Given the description of an element on the screen output the (x, y) to click on. 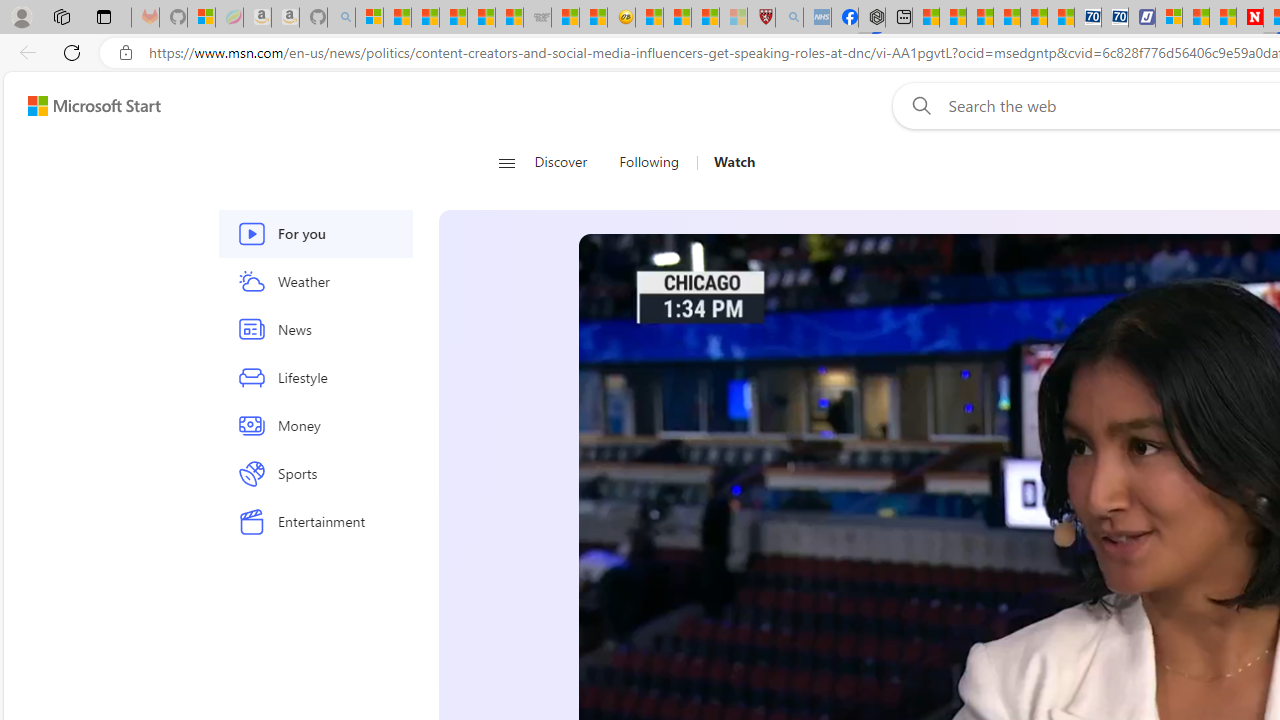
Watch (734, 162)
Science - MSN (705, 17)
Combat Siege (537, 17)
Newsweek - News, Analysis, Politics, Business, Technology (1249, 17)
Skip to footer (82, 105)
